Given the description of an element on the screen output the (x, y) to click on. 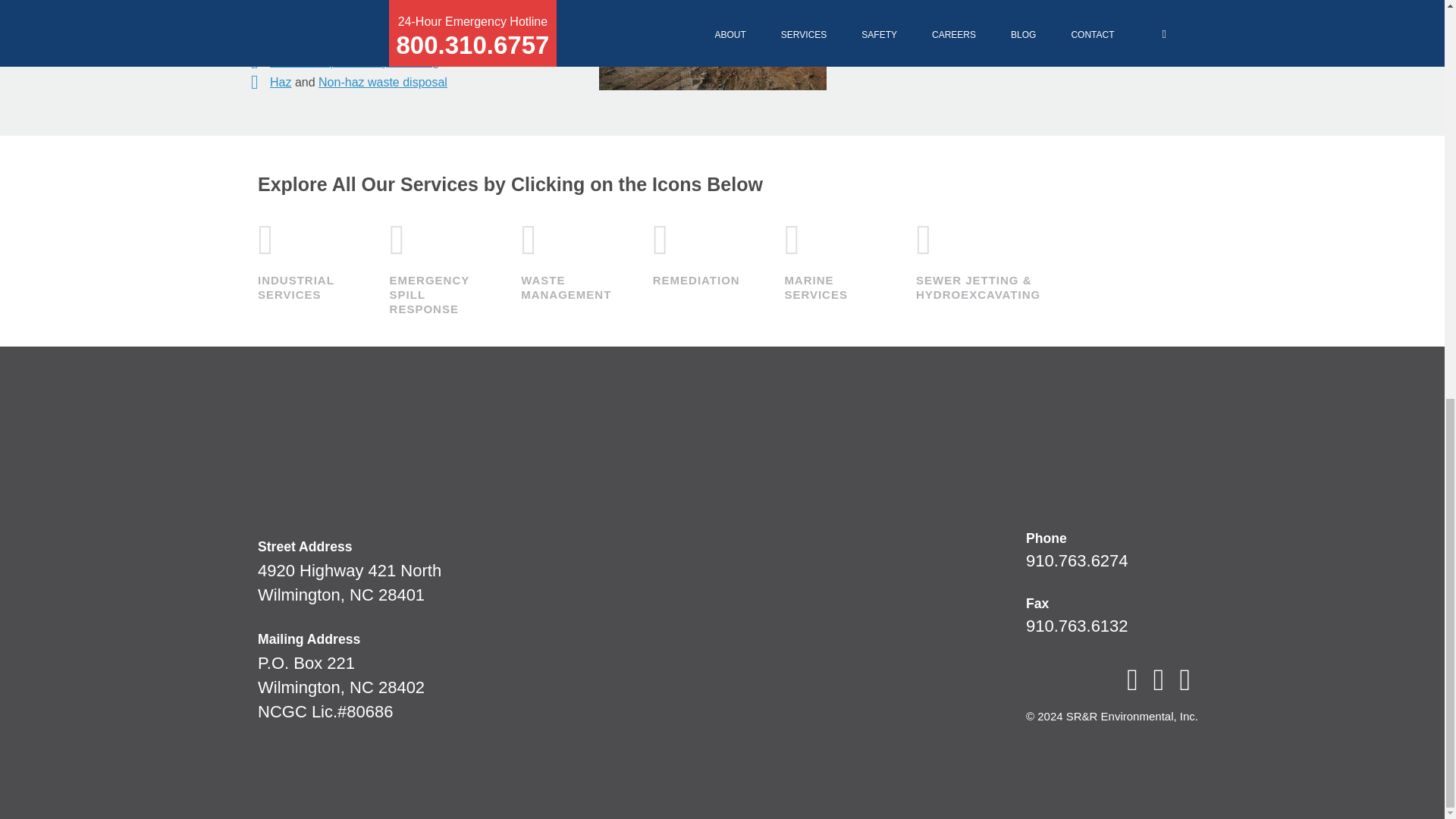
Tanker Hauling (309, 3)
Haz (280, 82)
910.763.6274 (1077, 560)
Confined Space Entry Cleaning (354, 61)
HAZMAT Transportation (333, 20)
Non-haz waste disposal (382, 82)
INDUSTRIAL SERVICES (349, 582)
910.763.6132 (304, 259)
EMERGENCY SPILL RESPONSE (1077, 625)
WASTE MANAGEMENT (436, 266)
REMEDIATION (567, 259)
MARINE SERVICES (699, 251)
